Given the description of an element on the screen output the (x, y) to click on. 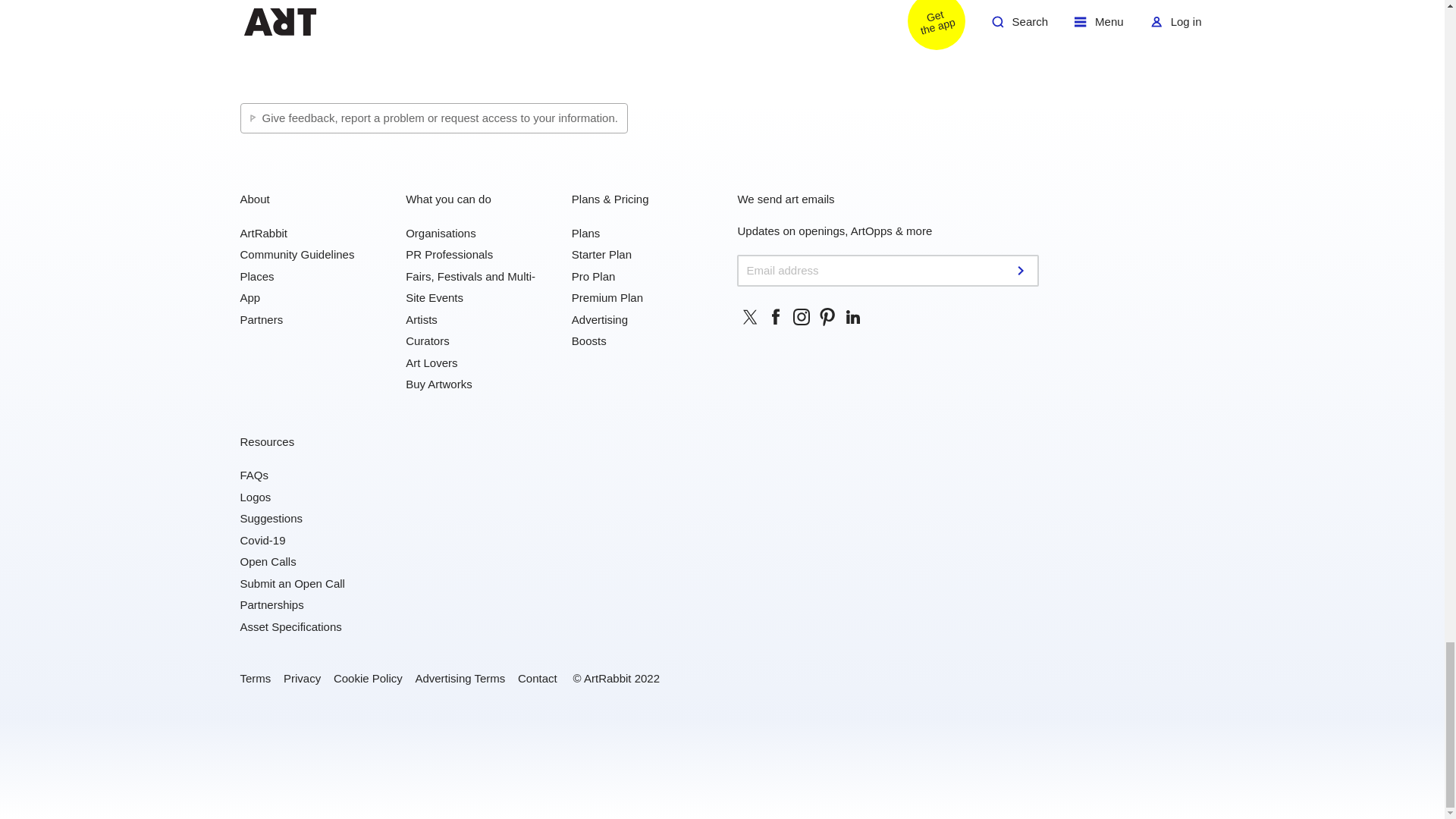
submit (1021, 270)
